Given the description of an element on the screen output the (x, y) to click on. 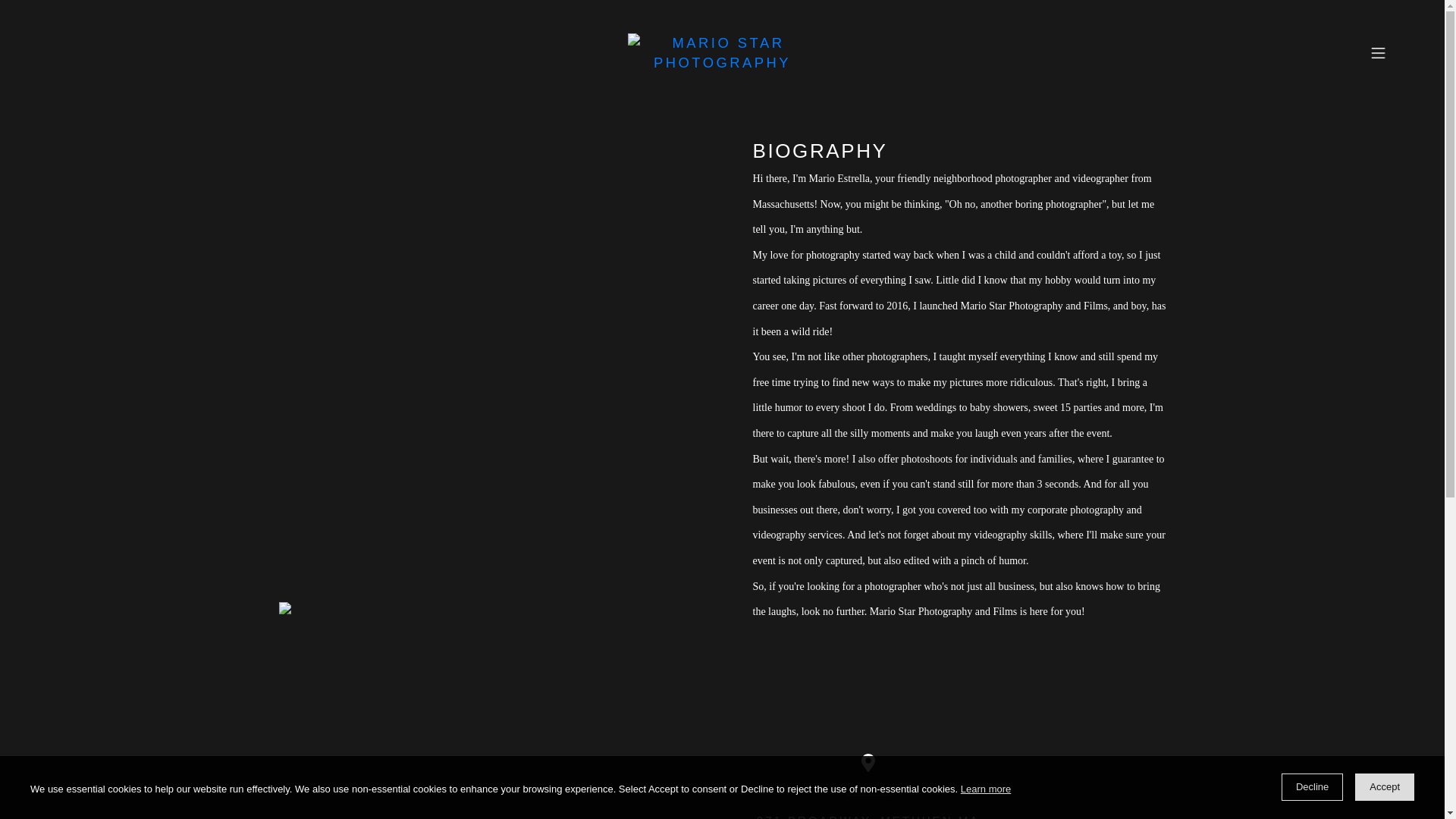
Accept (1384, 786)
Decline (1311, 786)
Learn more (985, 788)
